Given the description of an element on the screen output the (x, y) to click on. 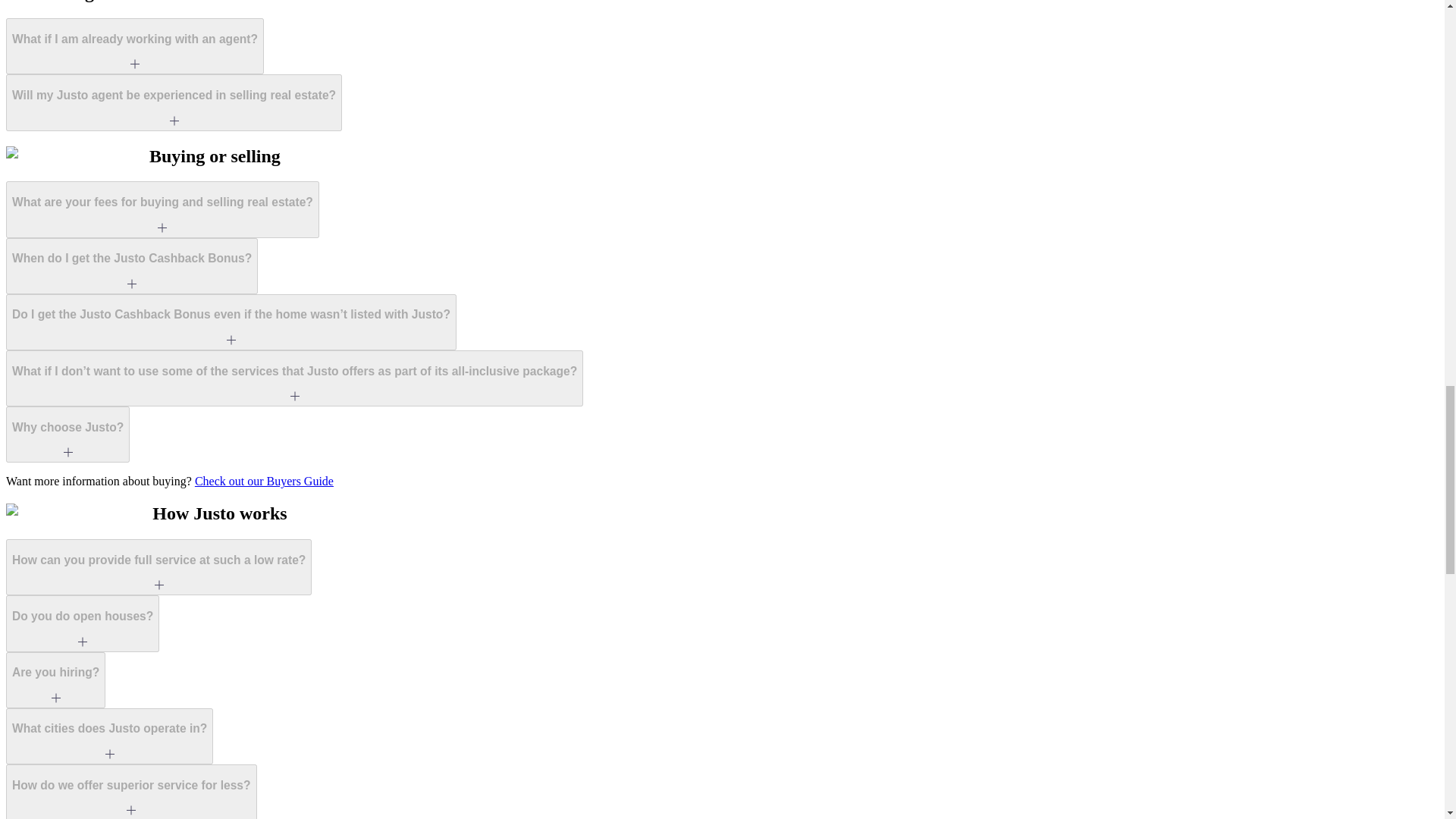
When do I get the Justo Cashback Bonus? (131, 266)
Why choose Justo? (67, 434)
What are your fees for buying and selling real estate? (161, 208)
Are you hiring? (54, 679)
Will my Justo agent be experienced in selling real estate? (173, 102)
Do you do open houses? (81, 623)
What if I am already working with an agent? (134, 46)
How can you provide full service at such a low rate? (158, 566)
Check out our Buyers Guide (264, 481)
